Given the description of an element on the screen output the (x, y) to click on. 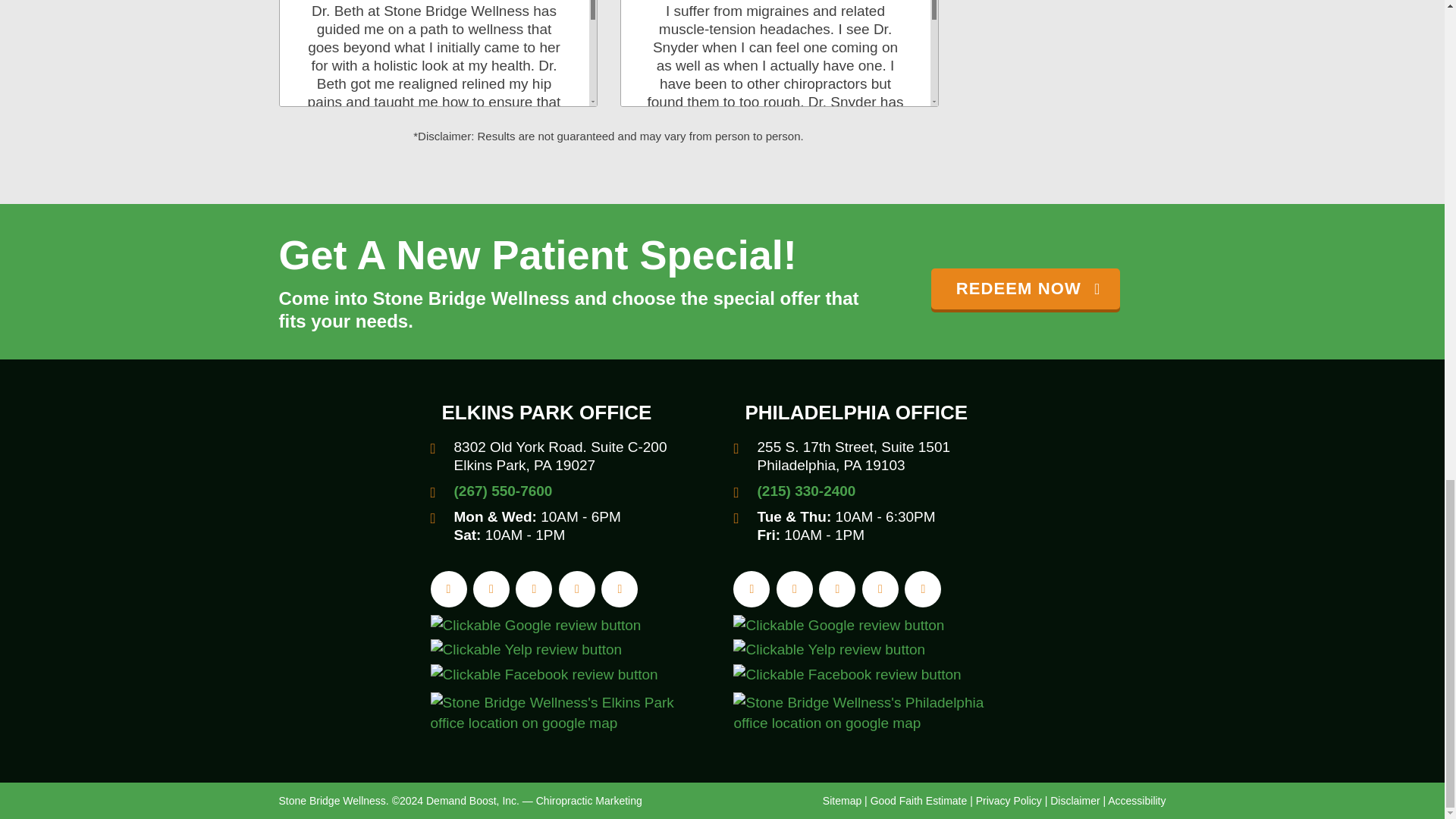
Leave us a review on Facebook (544, 674)
Leave us a review on Yelp (828, 651)
Leave us a review on Facebook (846, 674)
Leave us a review on Google (536, 624)
Leave us a review on Google (838, 624)
Leave us a review on Yelp (526, 651)
